Given the description of an element on the screen output the (x, y) to click on. 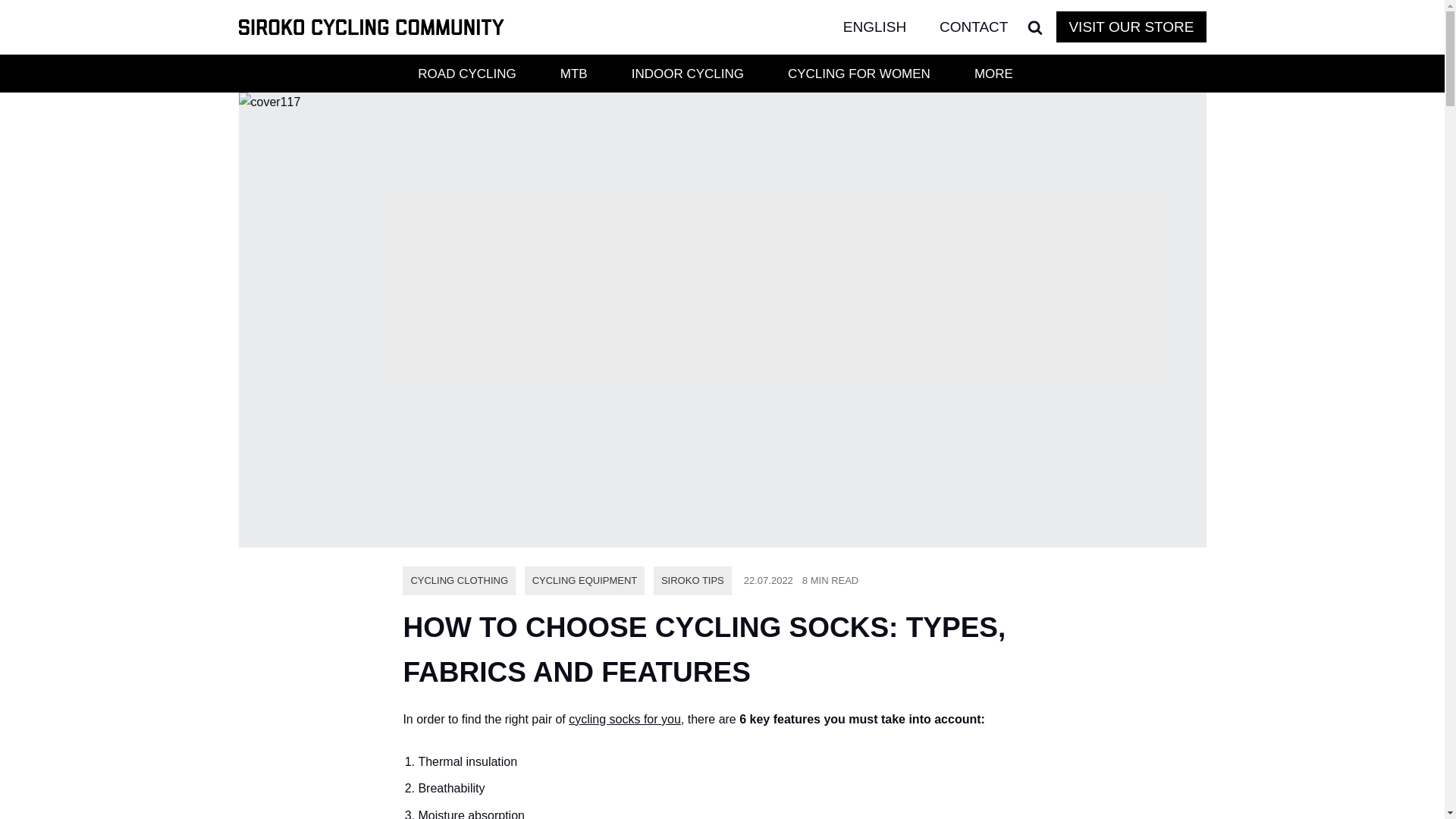
MTB (573, 73)
CONTACT (973, 26)
SIROKO CYCLING COMMUNITY (370, 27)
ROAD CYCLING (467, 73)
Skip to content (11, 31)
ENGLISH (887, 26)
CYCLING FOR WOMEN (858, 73)
MORE (993, 73)
VISIT OUR STORE (1131, 26)
INDOOR CYCLING (686, 73)
